Given the description of an element on the screen output the (x, y) to click on. 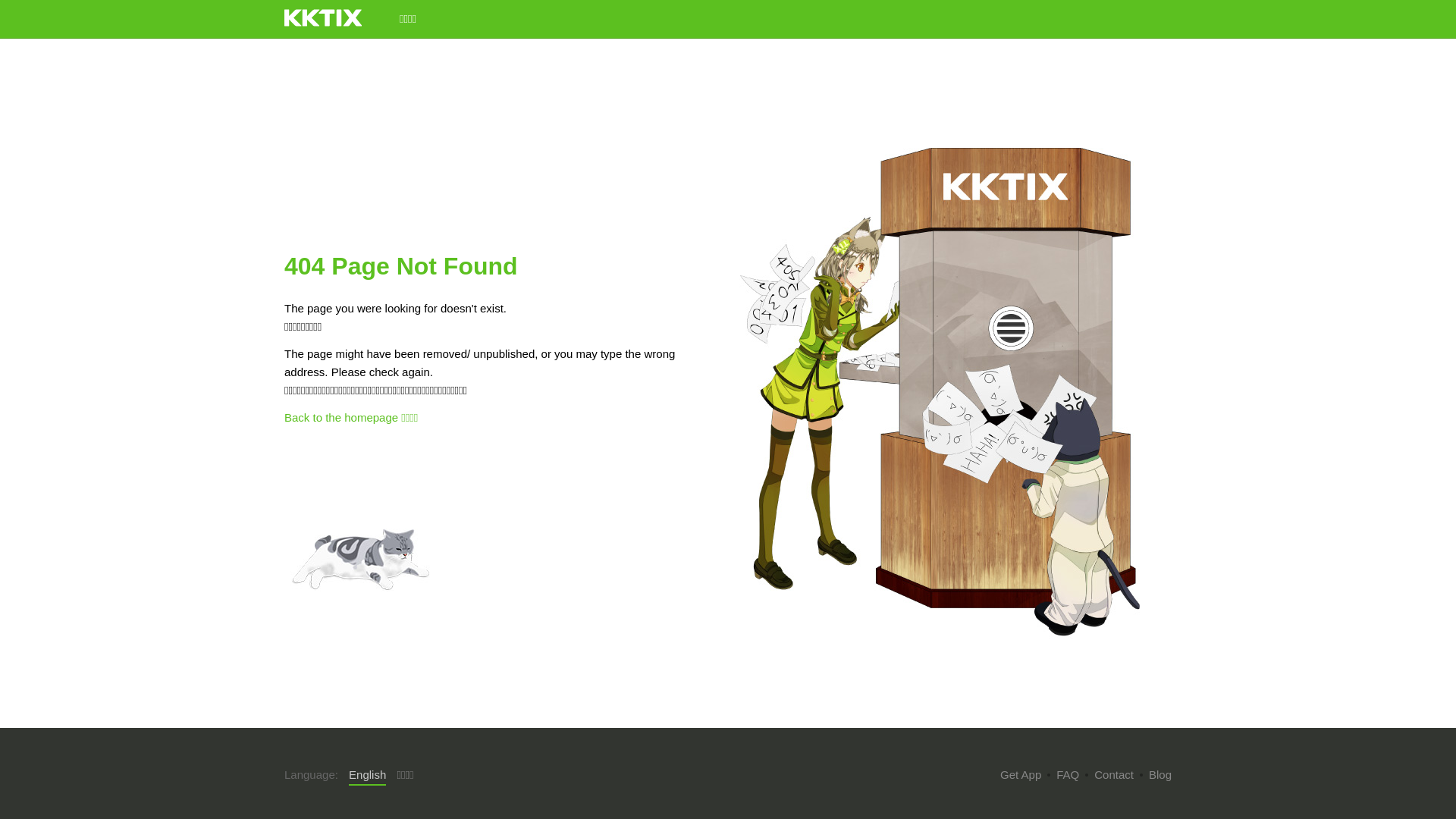
FAQ Element type: text (1067, 774)
English Element type: text (366, 775)
Blog Element type: text (1159, 774)
Get App Element type: text (1020, 774)
KKTIX Element type: text (322, 17)
Contact Element type: text (1113, 774)
